Given the description of an element on the screen output the (x, y) to click on. 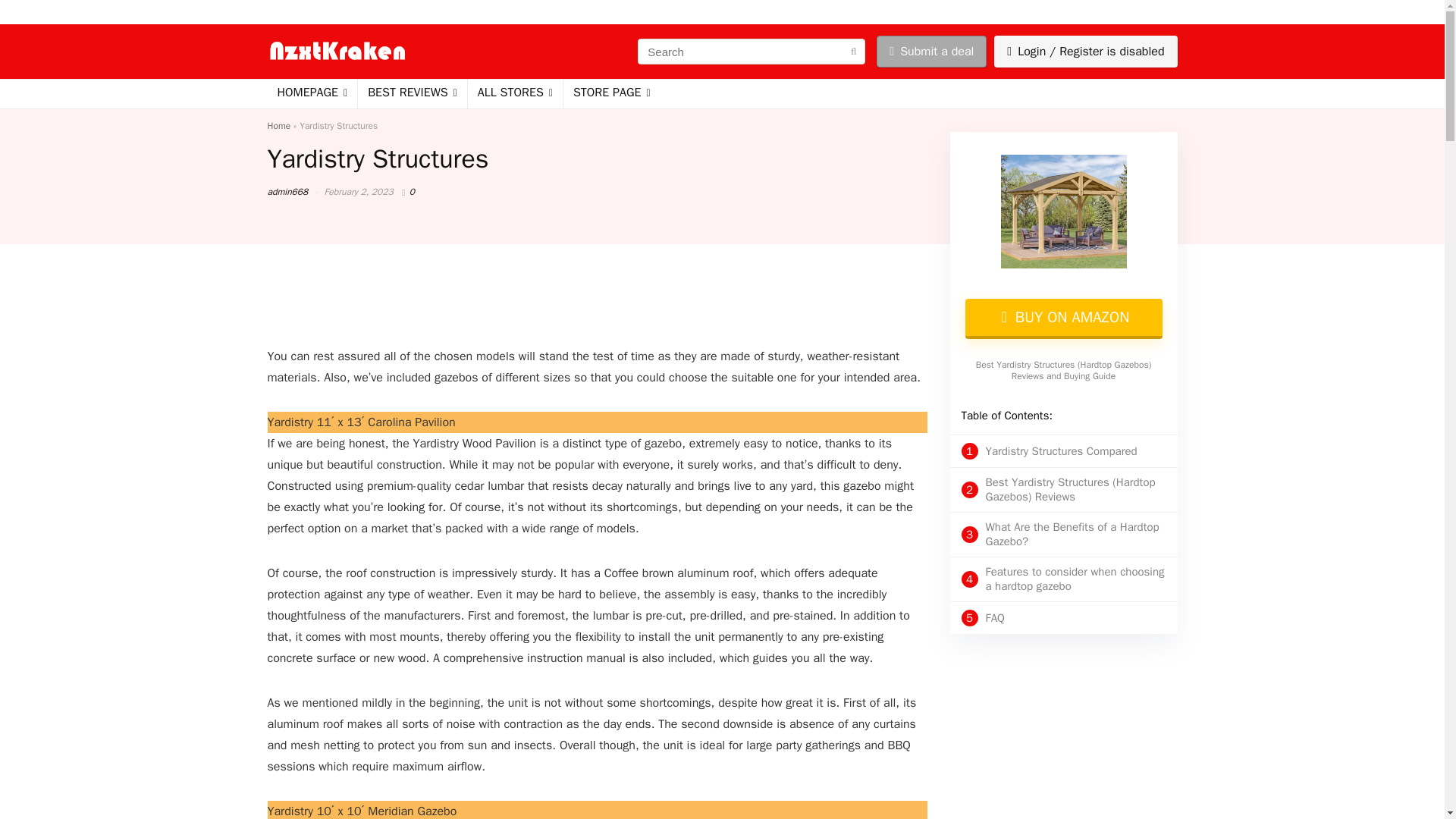
ALL STORES (514, 93)
BEST REVIEWS (412, 93)
HOMEPAGE (311, 93)
Submit a deal (931, 51)
STORE PAGE (612, 93)
